Given the description of an element on the screen output the (x, y) to click on. 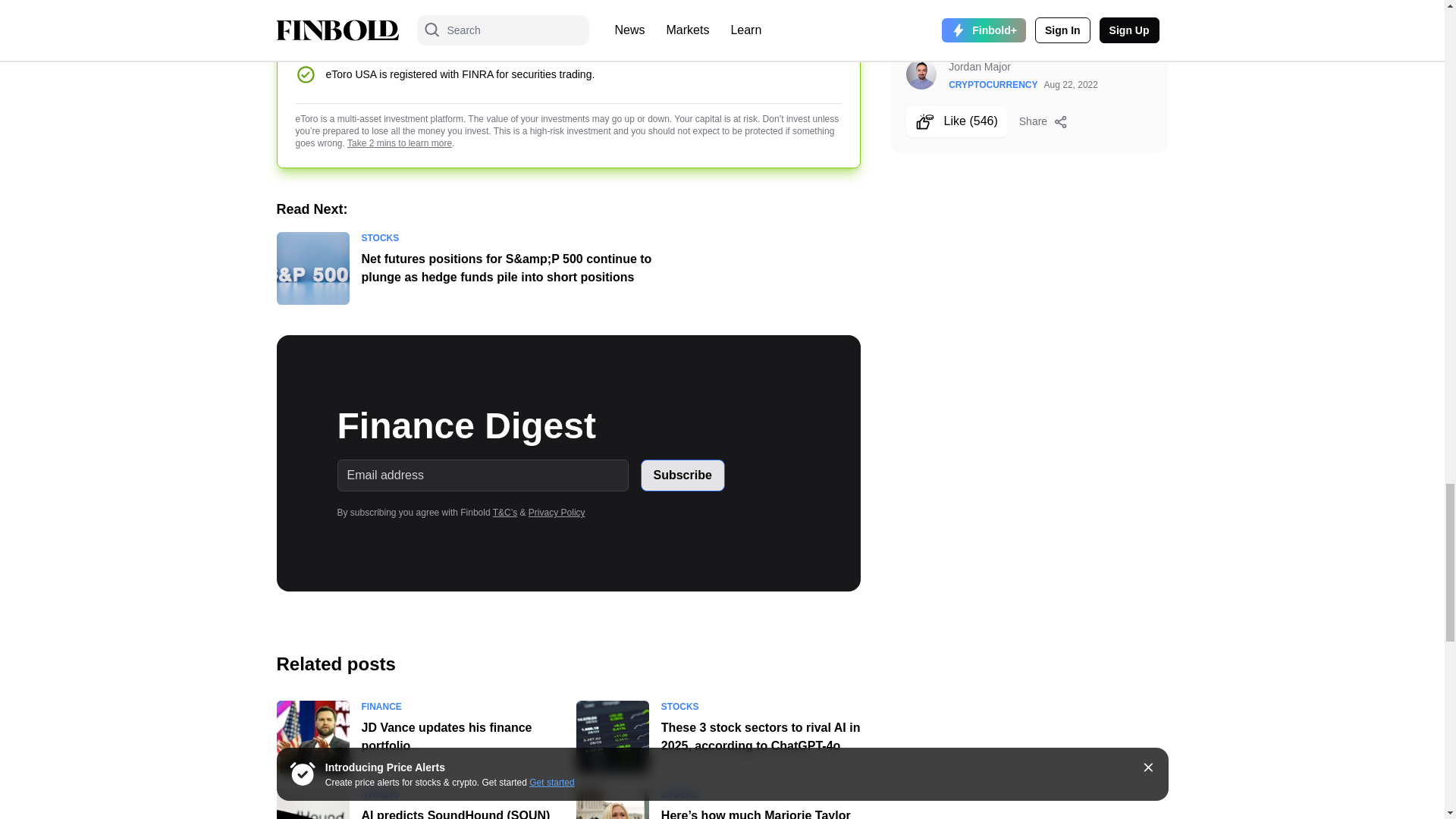
JD Vance updates his finance portfolio (446, 736)
JD Vance updates his finance portfolio (312, 737)
